Given the description of an element on the screen output the (x, y) to click on. 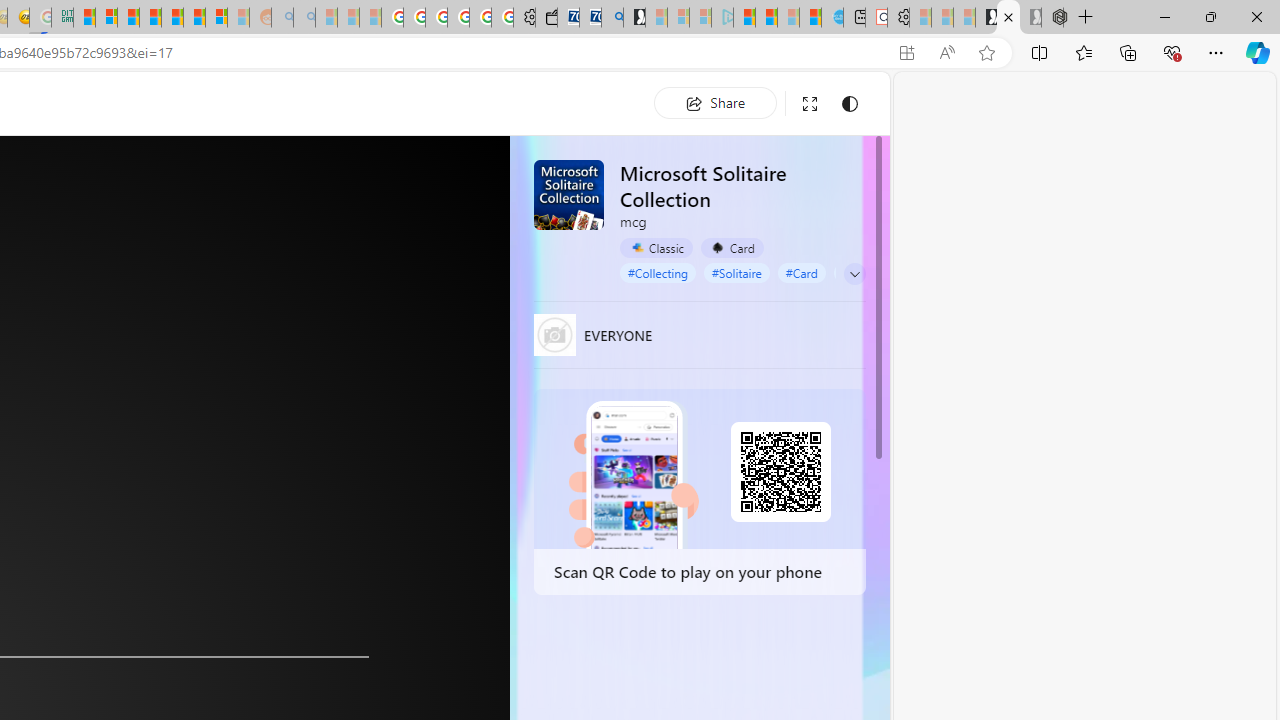
Change to dark mode (849, 103)
#Solitaire (737, 272)
